Given the description of an element on the screen output the (x, y) to click on. 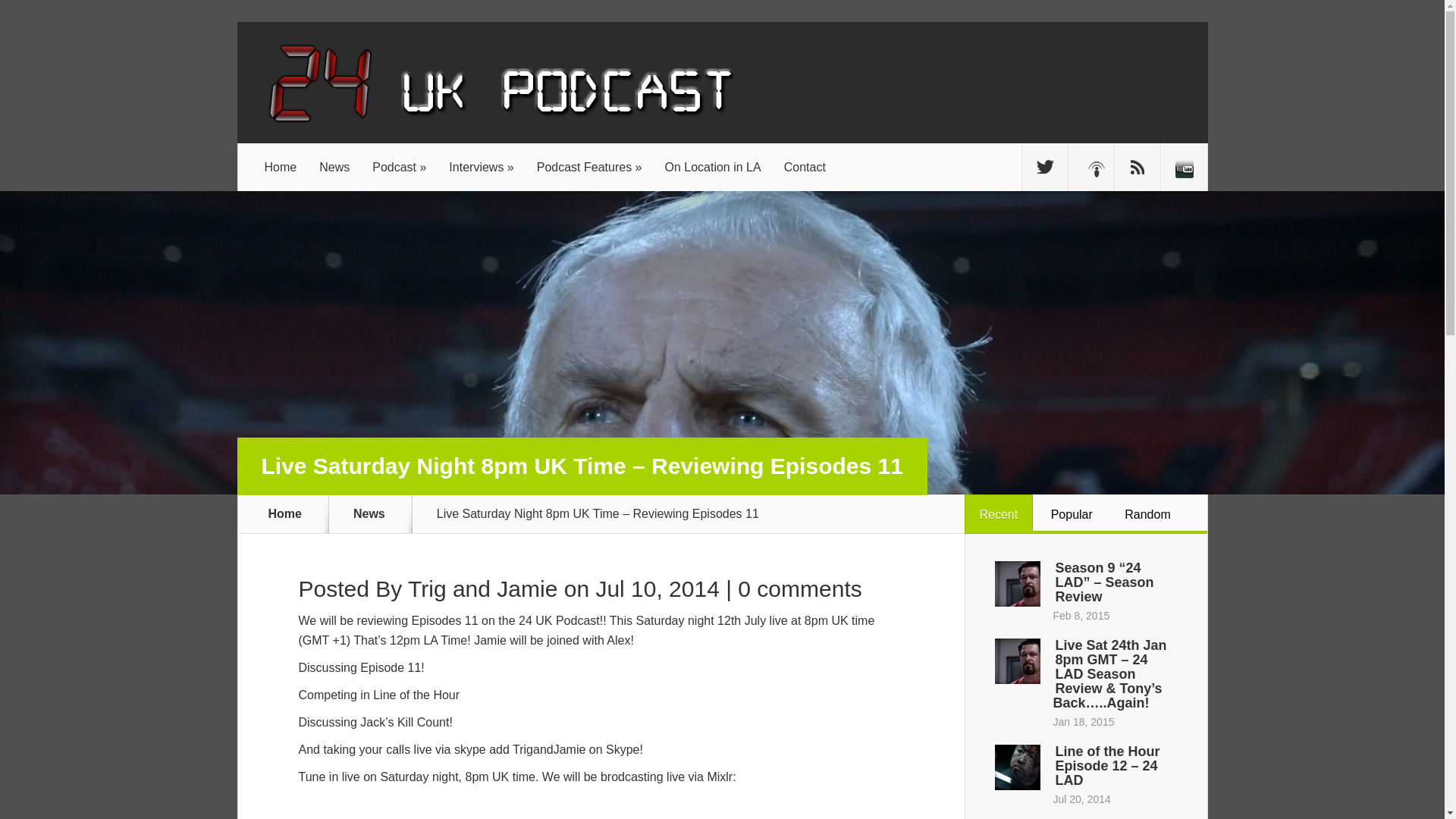
Home (280, 167)
News (334, 167)
Posts by Trig and Jamie (482, 588)
Home (280, 167)
